Given the description of an element on the screen output the (x, y) to click on. 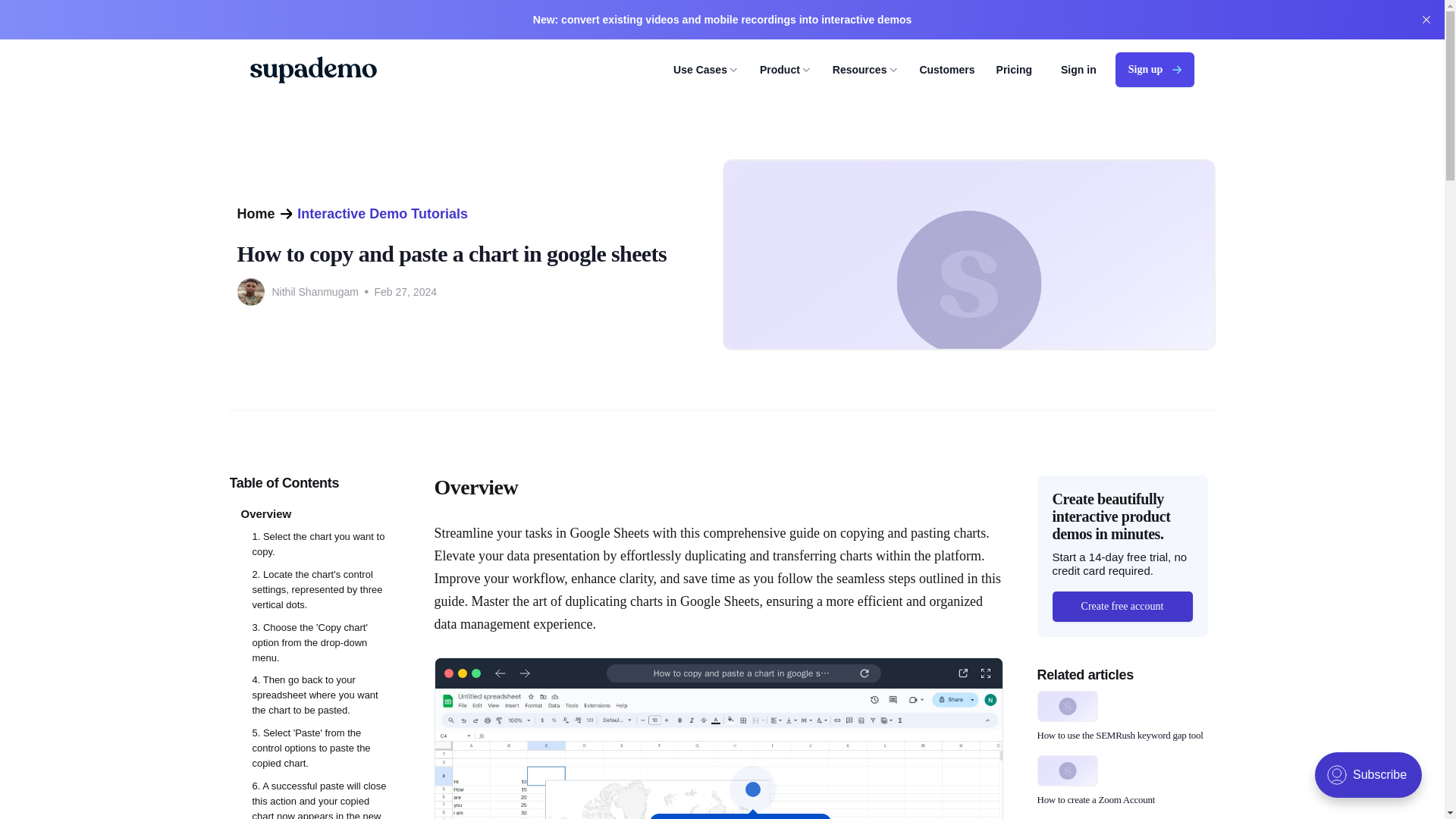
Customers (946, 69)
Use Cases (705, 69)
Pricing (1013, 69)
Sign up (1154, 69)
Sign in (1077, 69)
Product (785, 69)
Resources (865, 69)
